Given the description of an element on the screen output the (x, y) to click on. 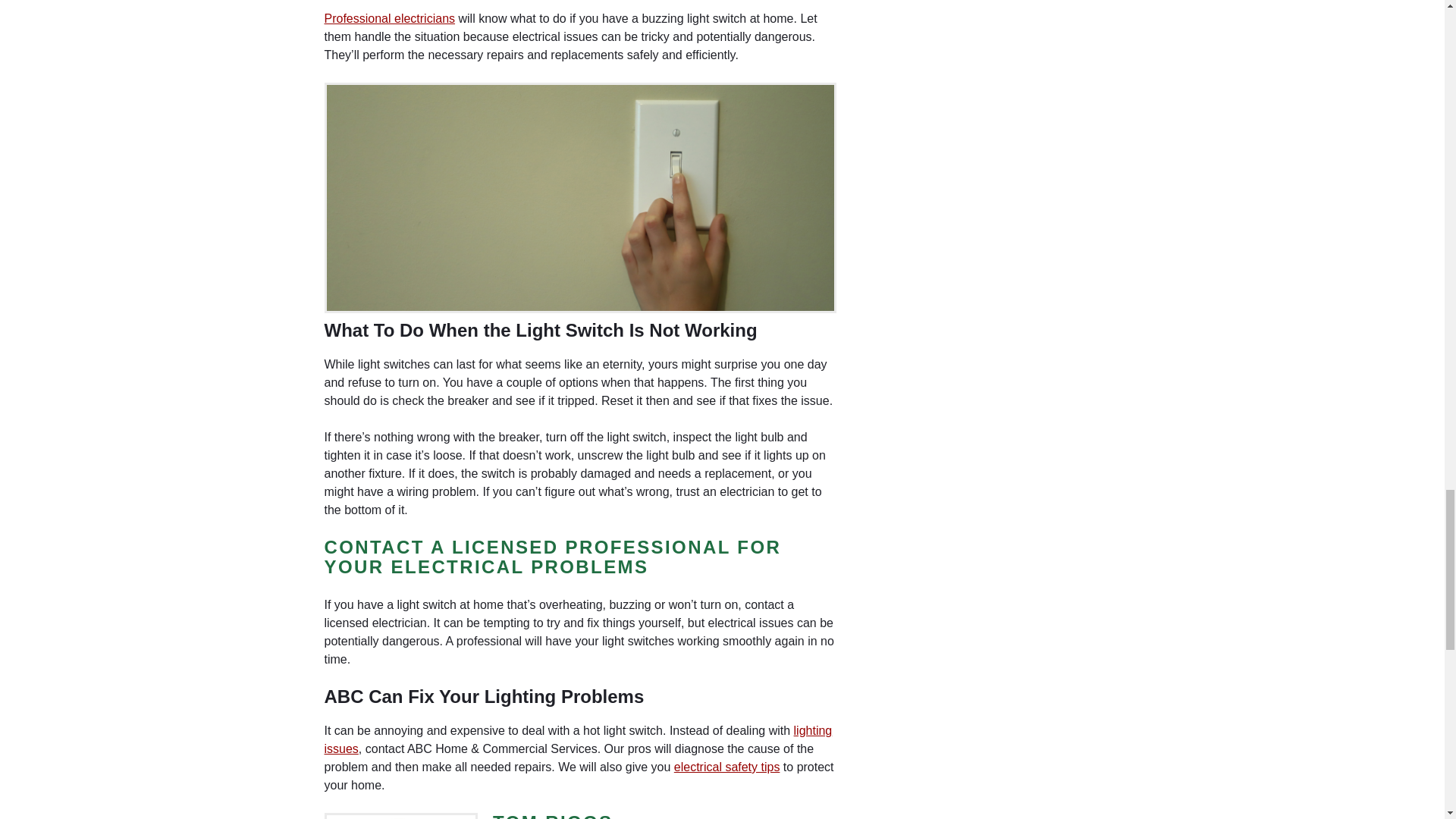
lighting issues (578, 739)
Professional electricians (389, 18)
electrical safety tips (727, 766)
